Given the description of an element on the screen output the (x, y) to click on. 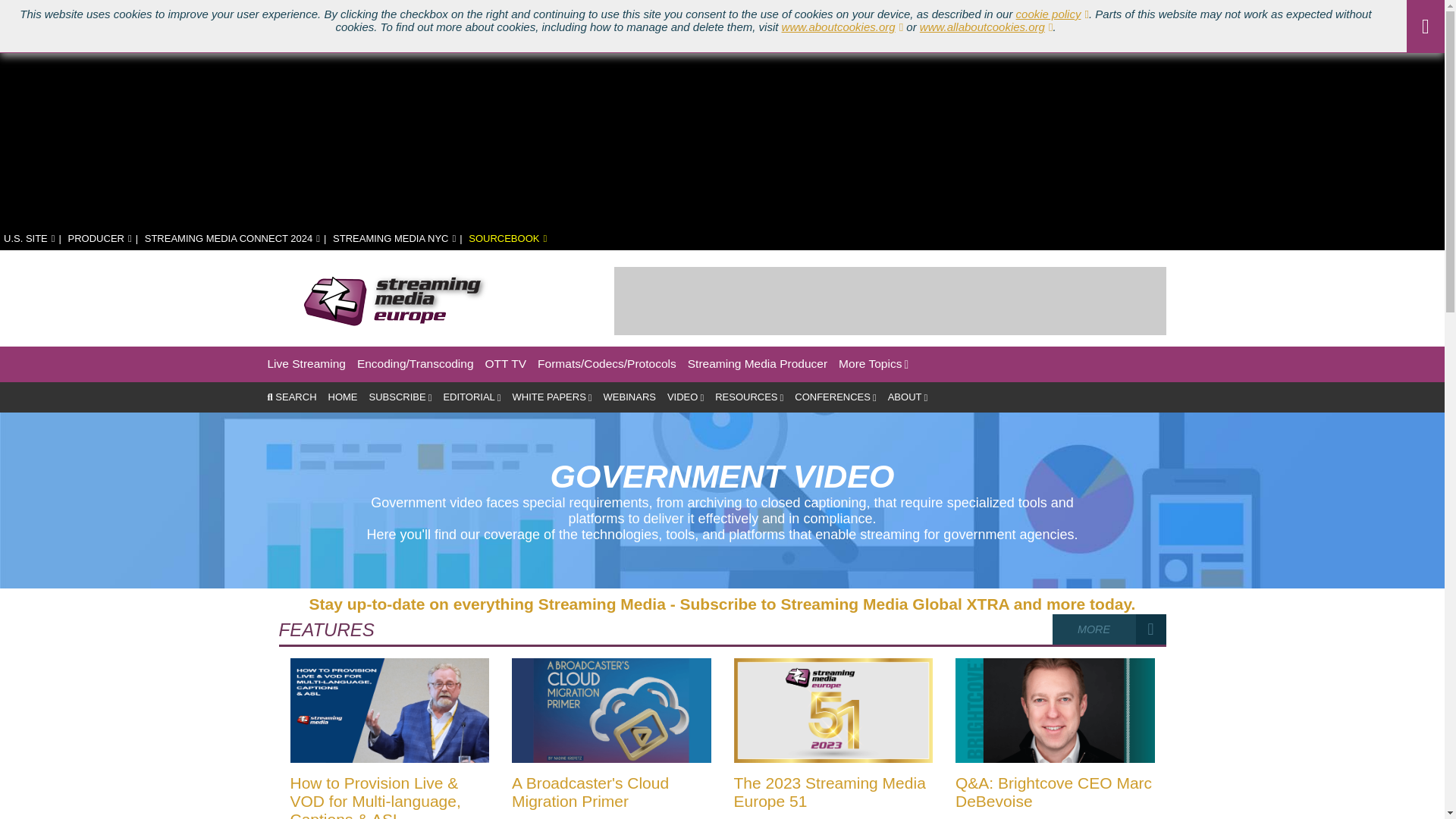
Streaming Media Producer (757, 364)
HOME (343, 396)
 SEARCH (290, 396)
Live Streaming (305, 364)
www.allaboutcookies.org (986, 26)
STREAMING MEDIA NYC (394, 238)
EDITORIAL (471, 397)
3rd party ad content (890, 300)
More Topics (873, 364)
